Given the description of an element on the screen output the (x, y) to click on. 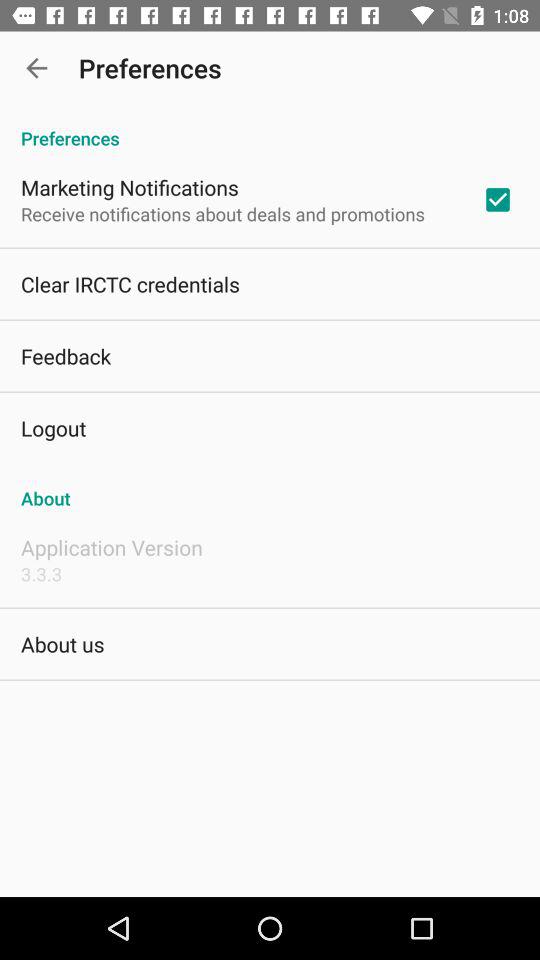
go back (36, 68)
